Given the description of an element on the screen output the (x, y) to click on. 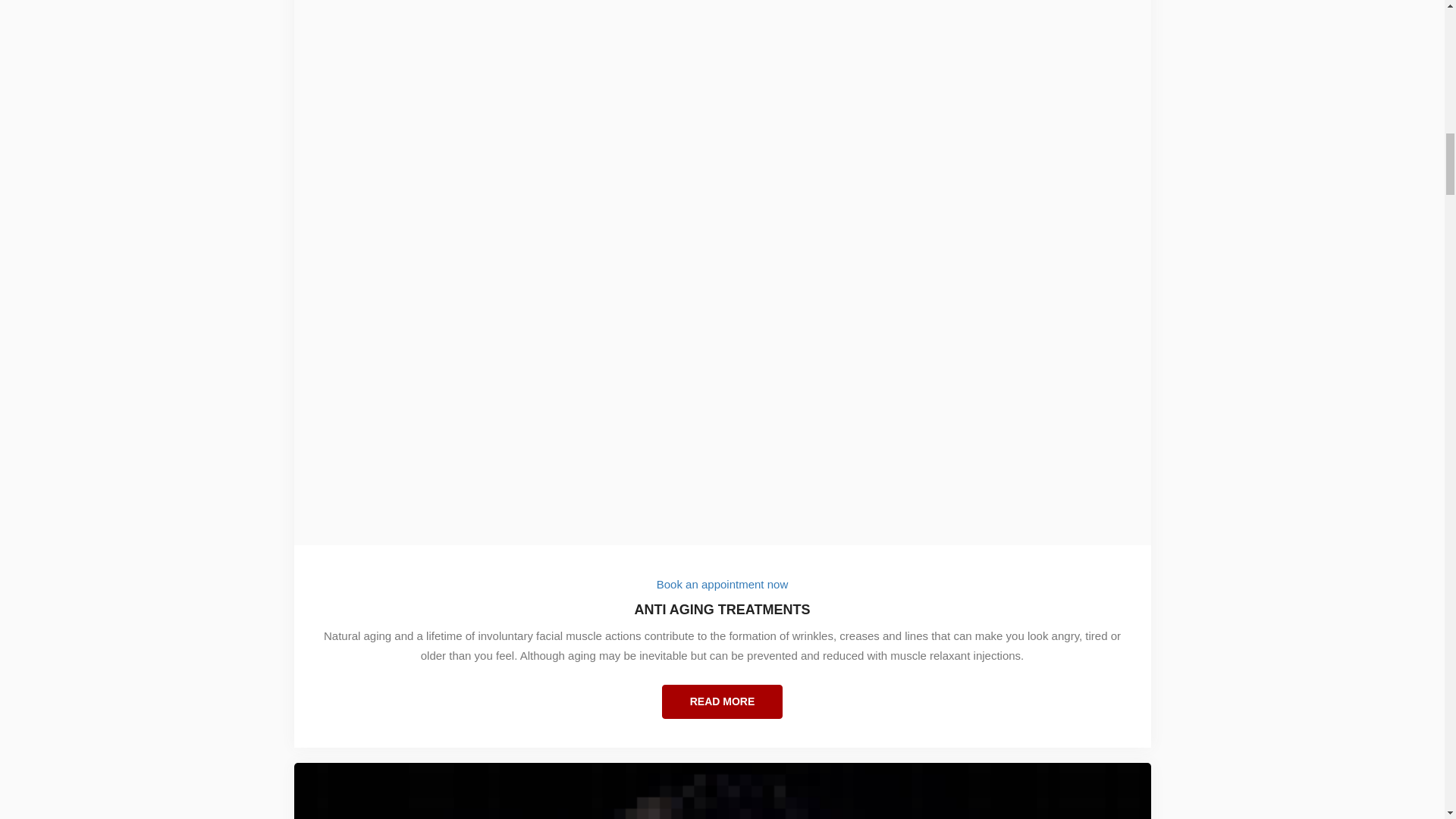
Book an appointment now (721, 584)
ANTI AGING TREATMENTS (722, 618)
READ MORE (722, 701)
